Given the description of an element on the screen output the (x, y) to click on. 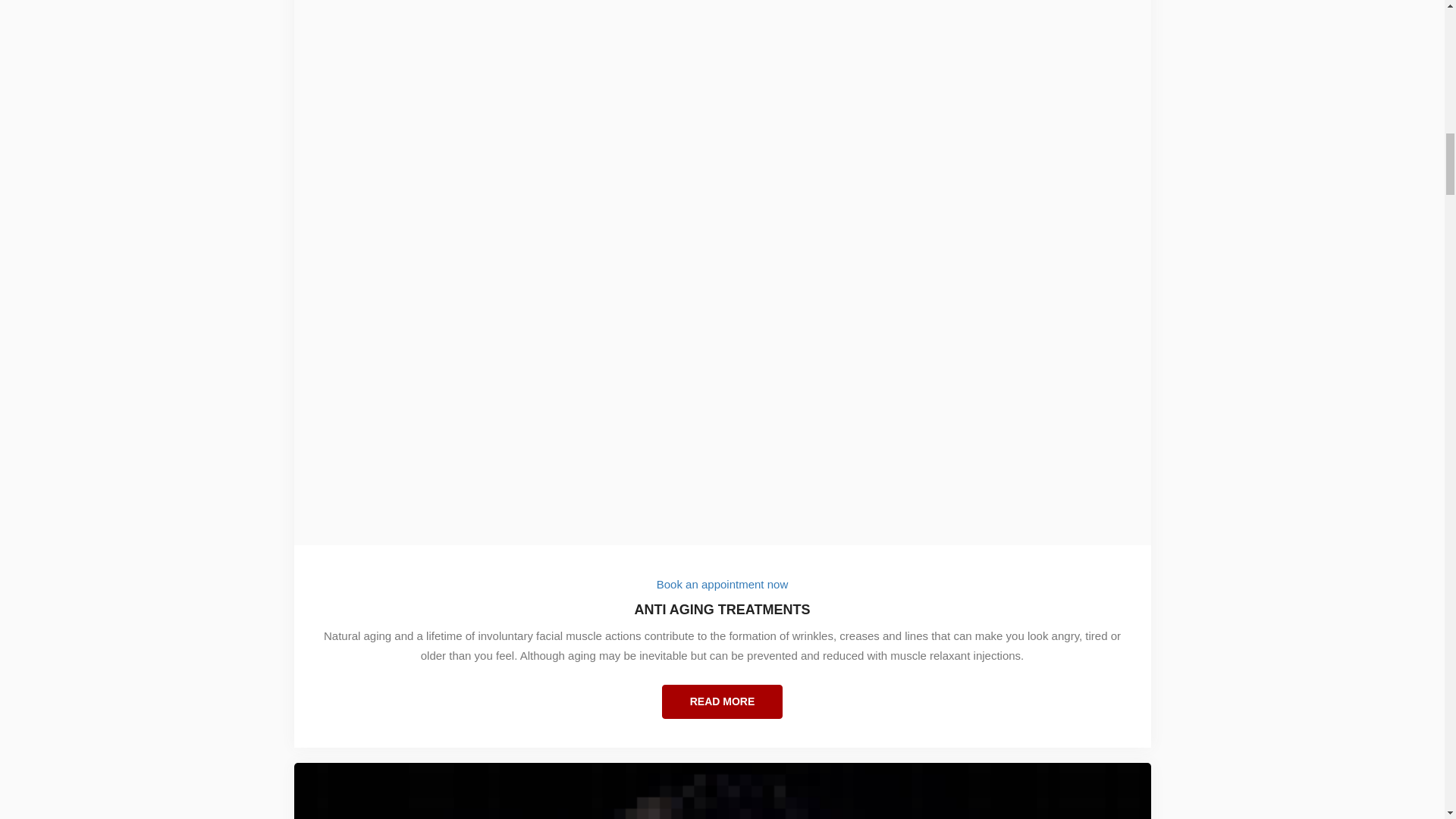
Book an appointment now (721, 584)
ANTI AGING TREATMENTS (722, 618)
READ MORE (722, 701)
